Given the description of an element on the screen output the (x, y) to click on. 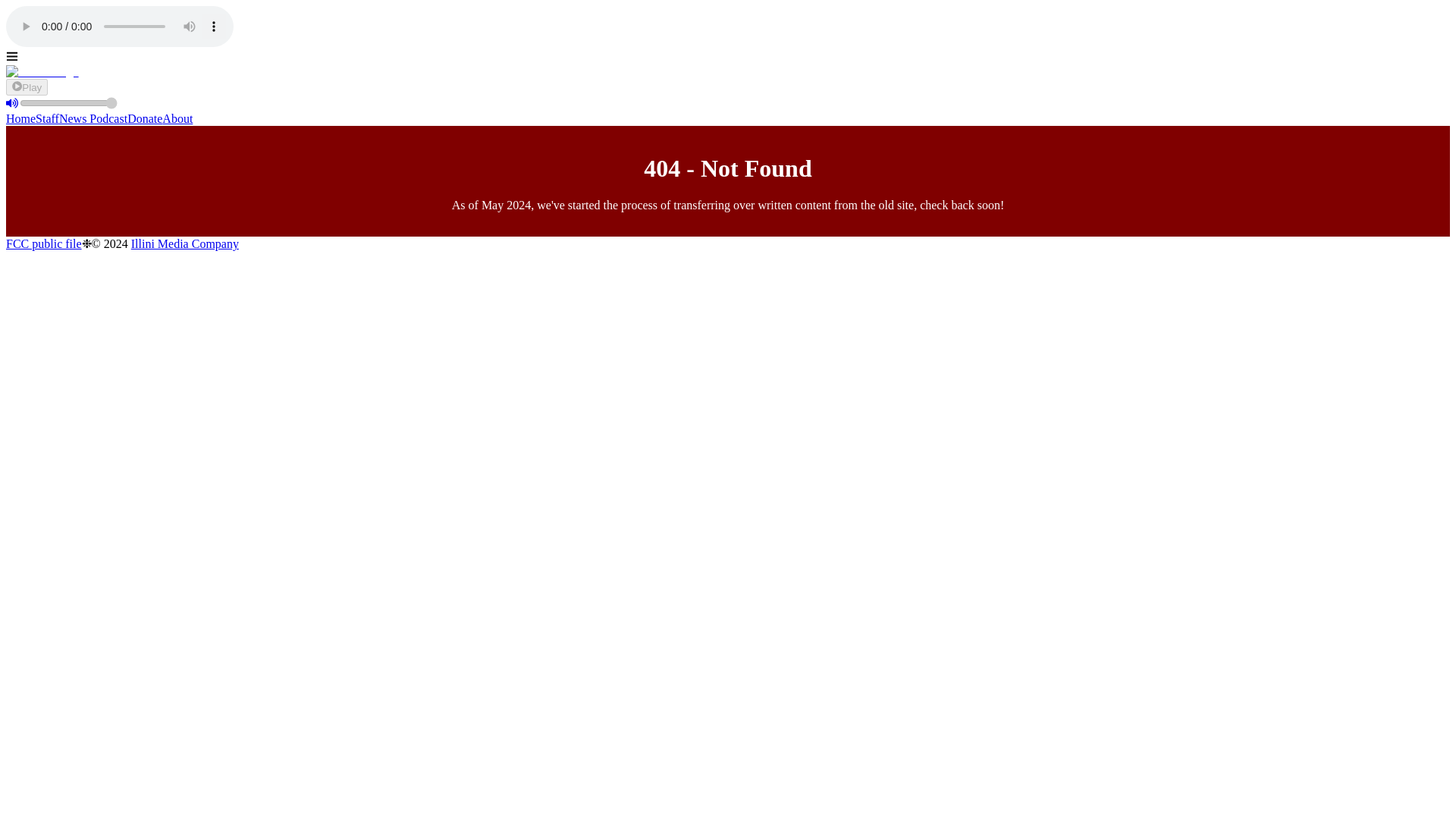
Play (26, 86)
About (176, 118)
News Podcast (93, 118)
Staff (46, 118)
Home (19, 118)
Donate (144, 118)
1 (68, 102)
